Given the description of an element on the screen output the (x, y) to click on. 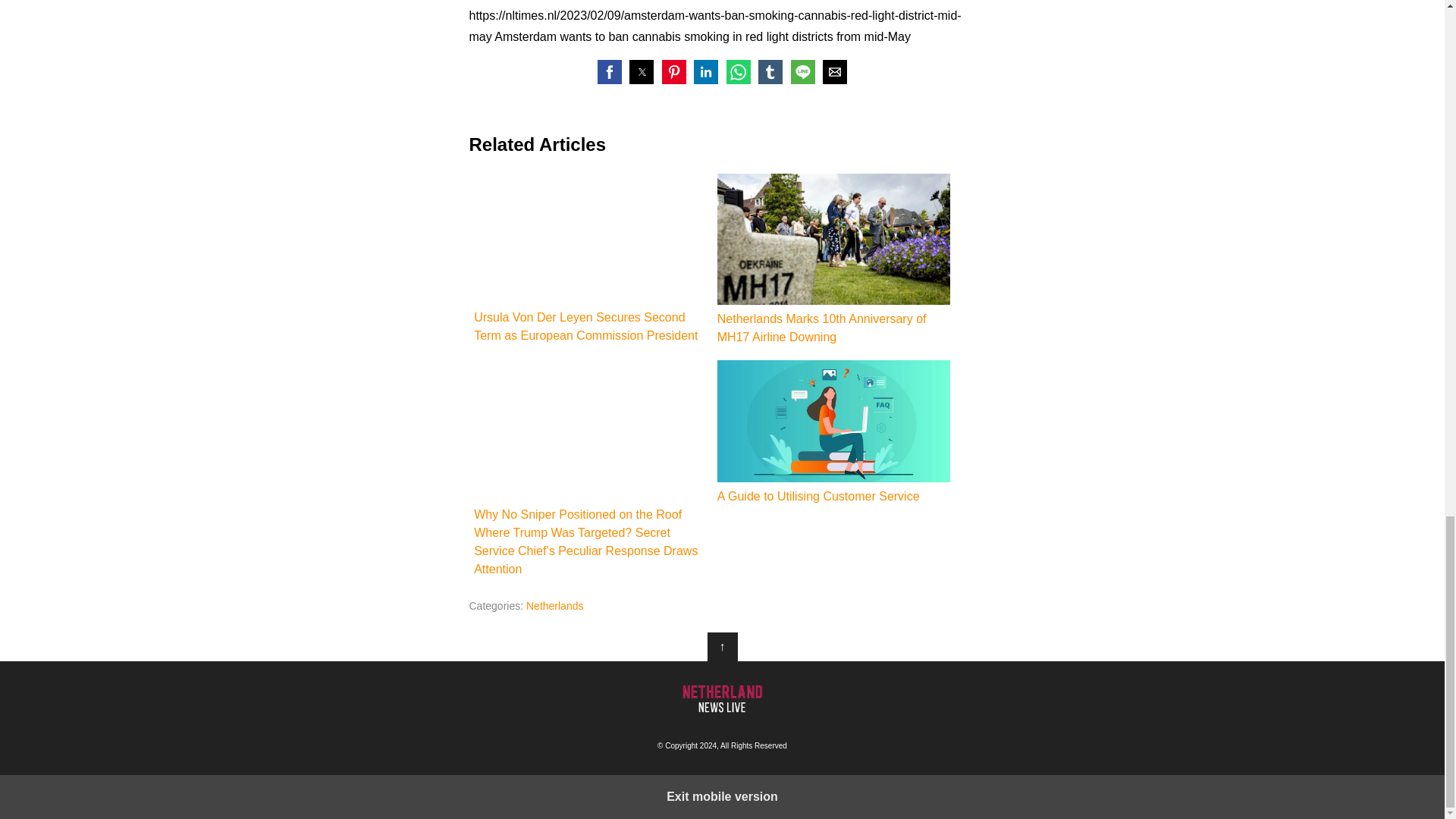
A Guide to Utilising Customer Service (833, 433)
Netherlands Marks 10th Anniversary of MH17 Airline Downing (833, 259)
Netherlandsnewslive.com (721, 698)
Netherlands (554, 605)
